Given the description of an element on the screen output the (x, y) to click on. 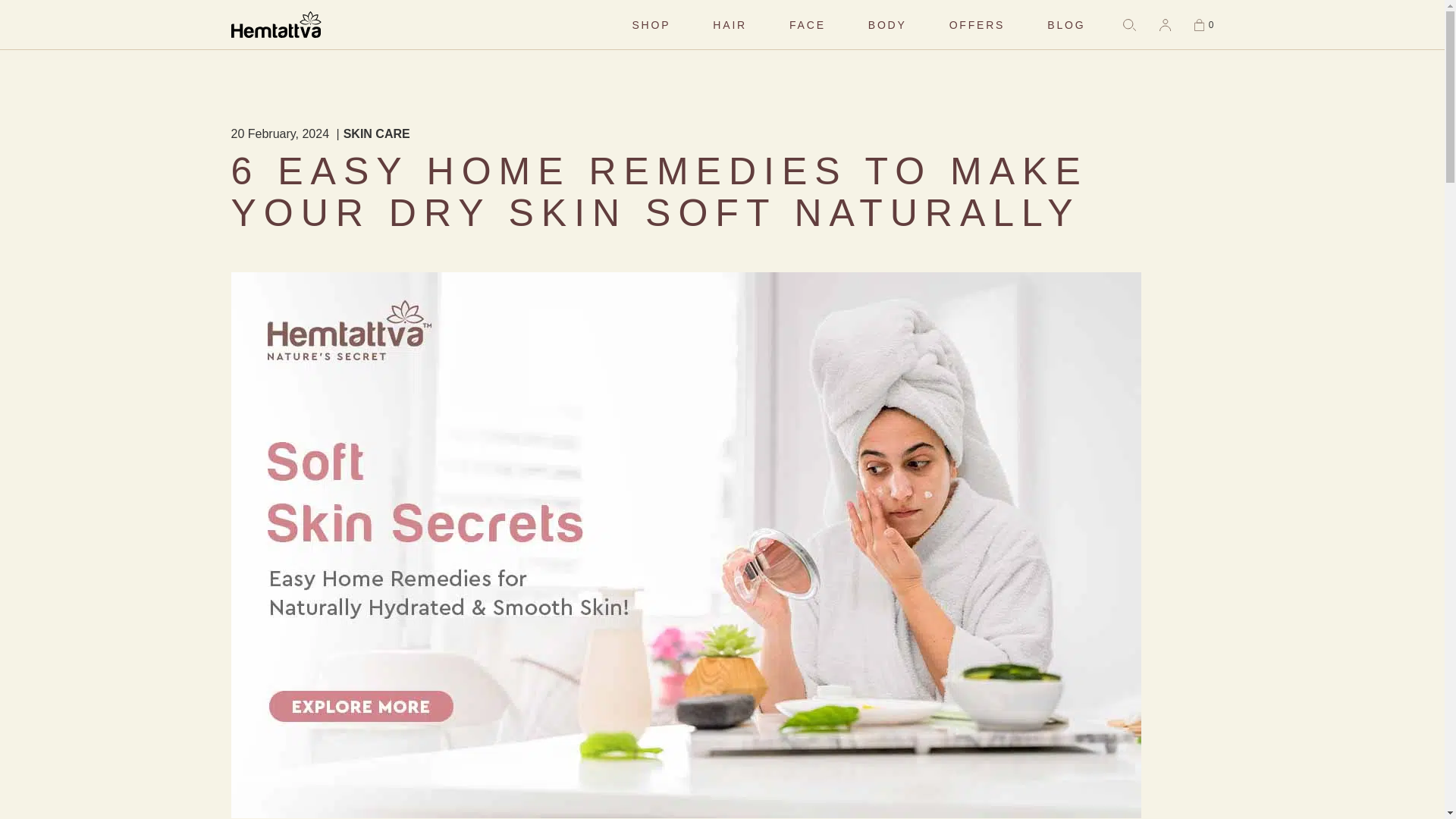
0 (1202, 23)
BODY (887, 24)
SKIN CARE (376, 133)
OFFERS (977, 24)
SHOP (650, 24)
HAIR (729, 24)
BLOG (1065, 24)
FACE (807, 24)
